Given the description of an element on the screen output the (x, y) to click on. 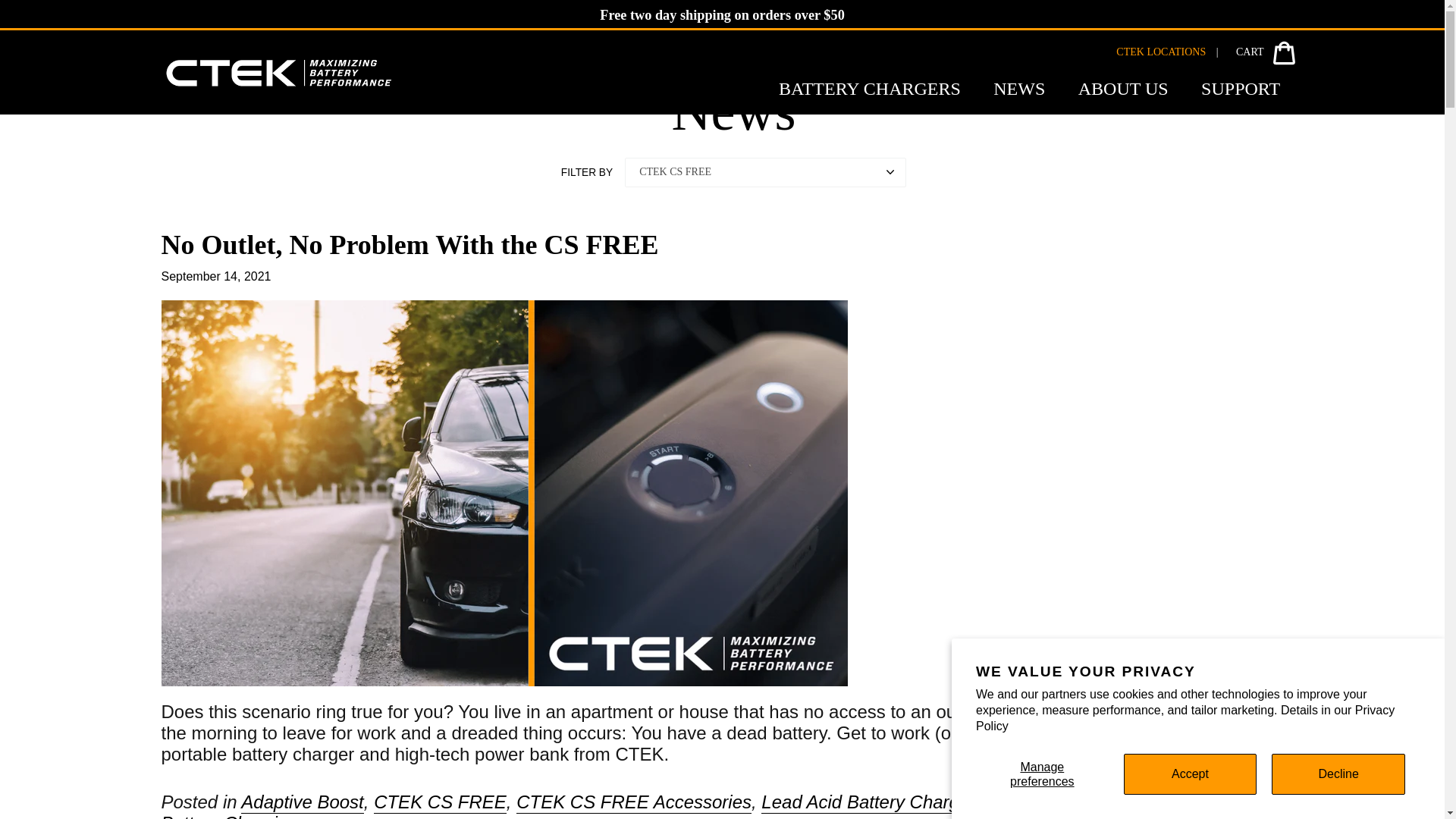
Manage preferences (1041, 773)
BATTERY CHARGERS (869, 88)
Decline (1338, 773)
Privacy Policy (1184, 717)
CART (1262, 51)
ABOUT US (1123, 88)
NEWS (1018, 88)
CTEK LOCATIONS (1160, 51)
Accept (1190, 773)
